Given the description of an element on the screen output the (x, y) to click on. 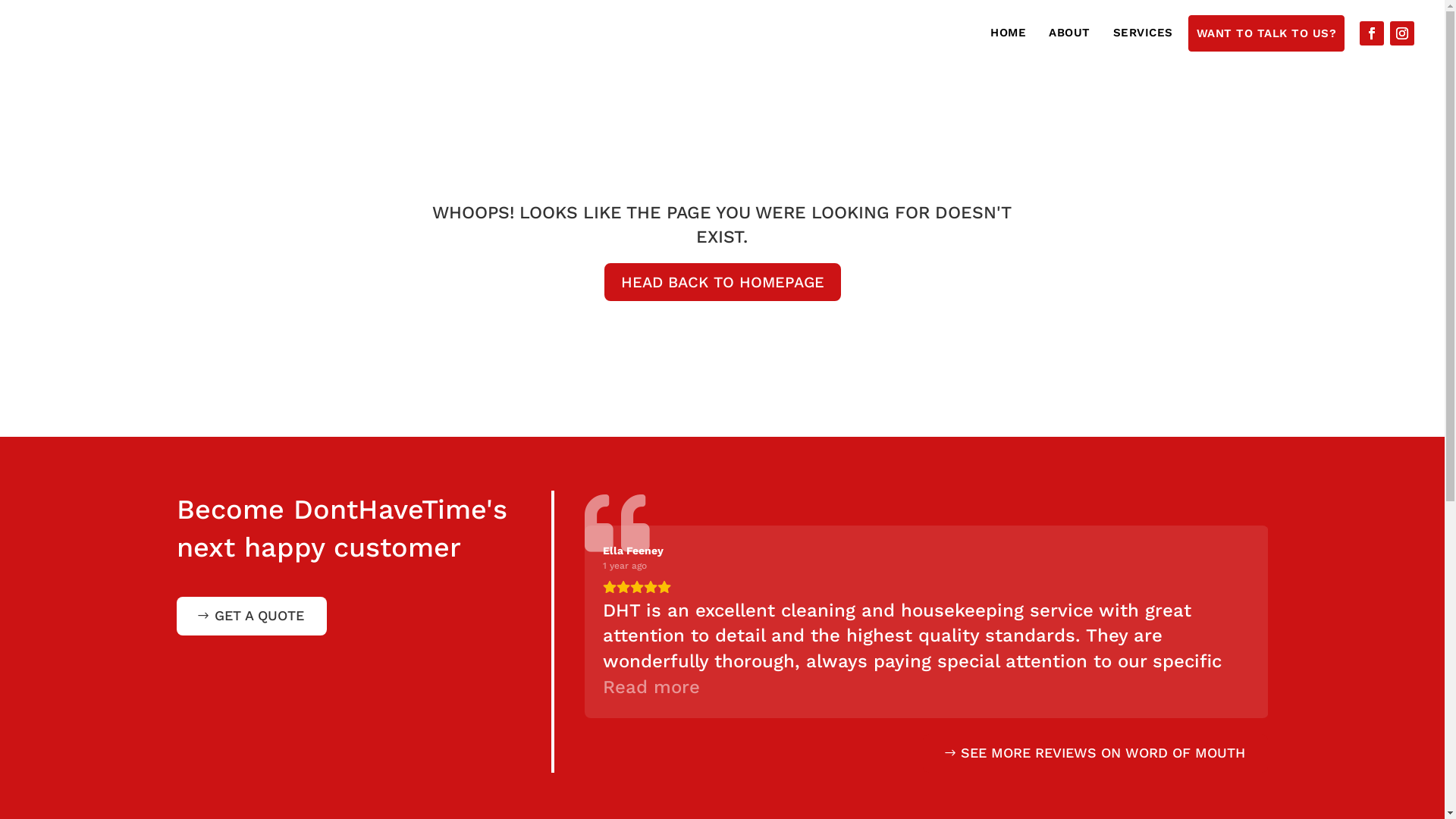
GET A QUOTE Element type: text (250, 615)
SEE MORE REVIEWS ON WORD OF MOUTH Element type: text (1094, 753)
HEAD BACK TO HOMEPAGE Element type: text (721, 282)
Follow on Instagram Element type: hover (1402, 33)
HOME Element type: text (1007, 32)
ABOUT Element type: text (1069, 32)
SERVICES Element type: text (1142, 32)
Follow on Facebook Element type: hover (1371, 33)
WANT TO TALK TO US? Element type: text (1265, 33)
Ella Feeney Element type: text (632, 550)
